Given the description of an element on the screen output the (x, y) to click on. 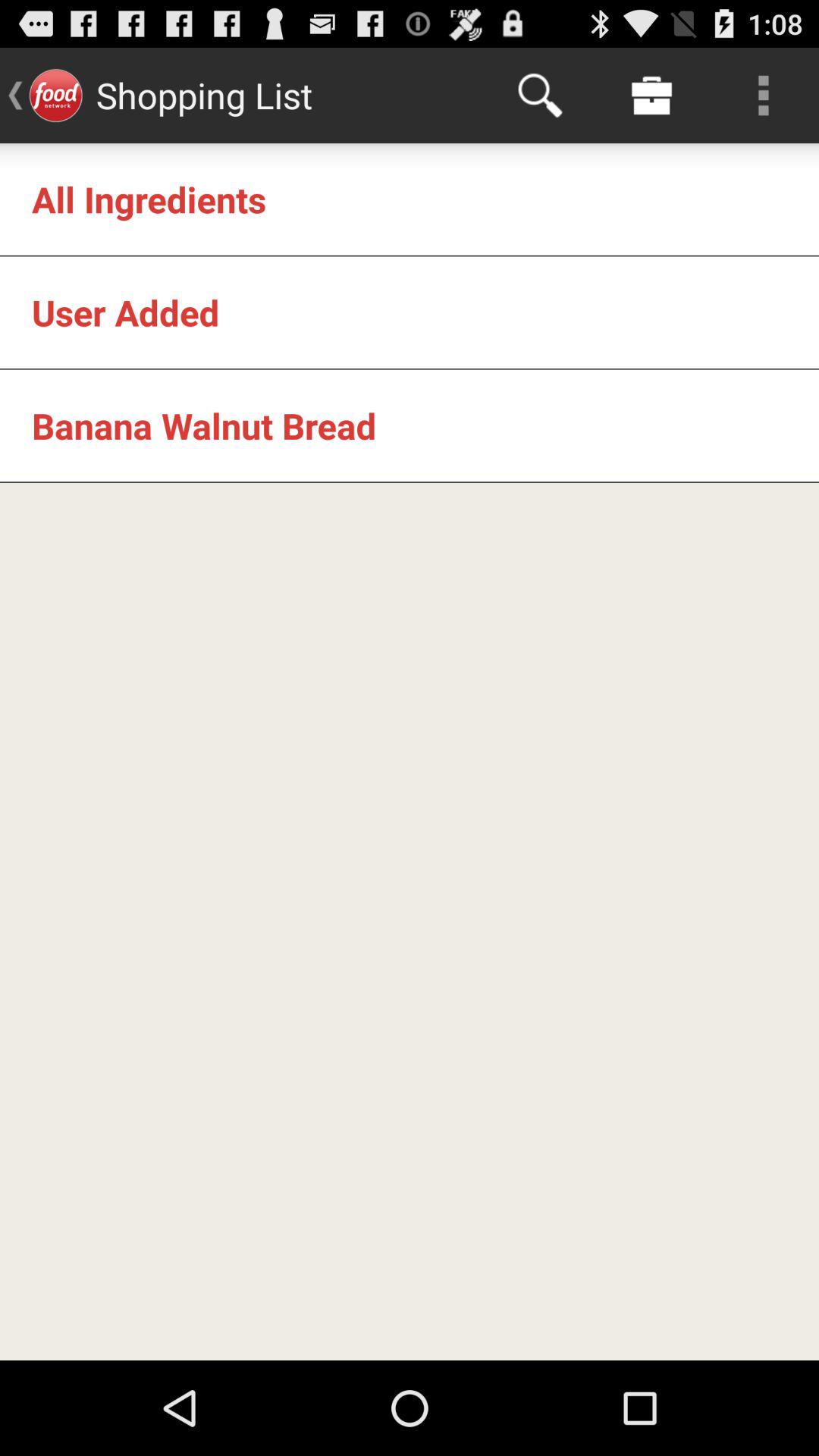
open app next to shopping list icon (540, 95)
